Given the description of an element on the screen output the (x, y) to click on. 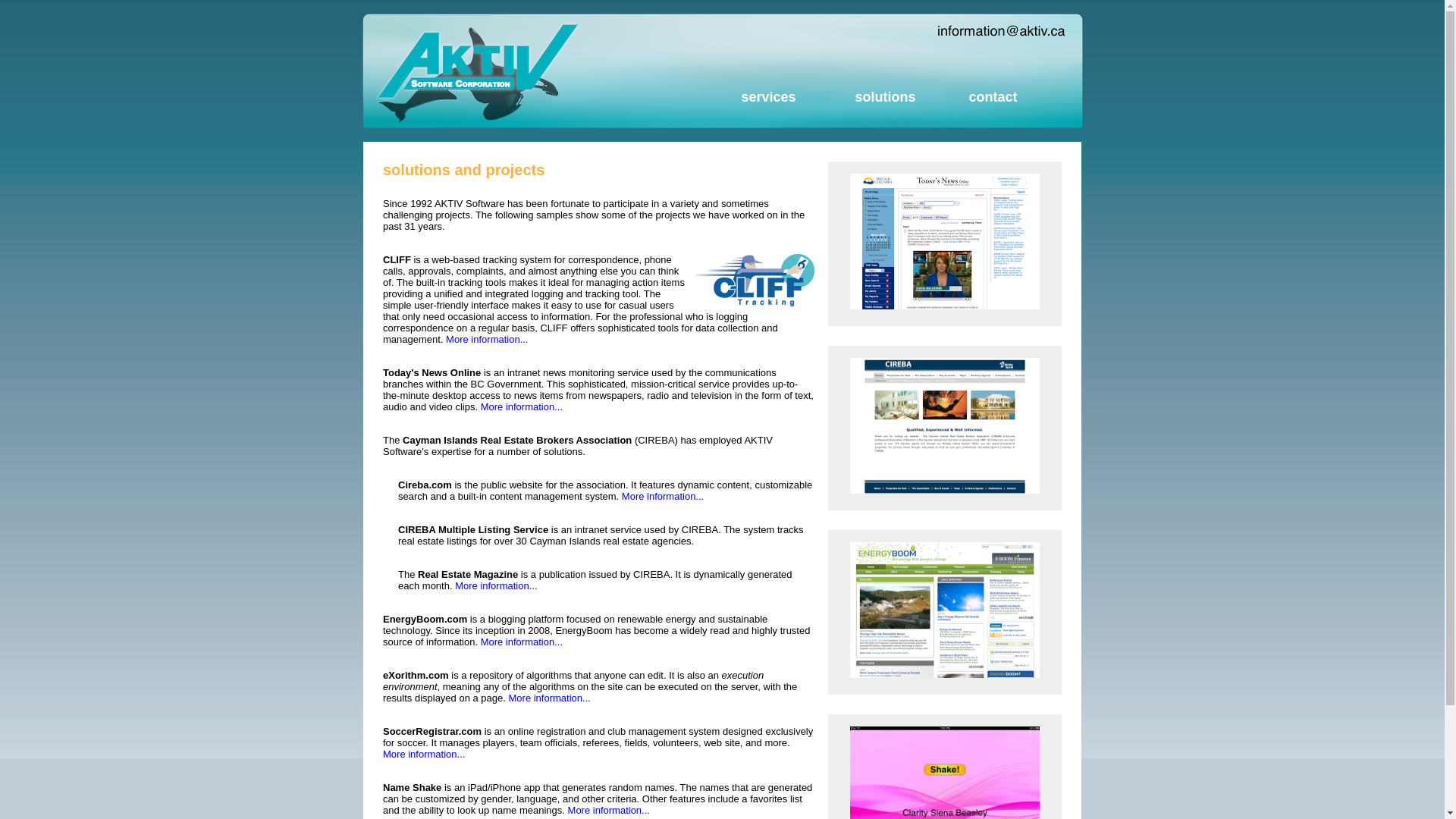
More information... Element type: text (486, 339)
contact Element type: text (993, 97)
More information... Element type: text (495, 585)
More information... Element type: text (521, 641)
services Element type: text (768, 97)
More information... Element type: text (662, 496)
More information... Element type: text (608, 809)
More information... Element type: text (521, 406)
More information... Element type: text (548, 697)
More information... Element type: text (423, 753)
solutions Element type: text (885, 97)
